Given the description of an element on the screen output the (x, y) to click on. 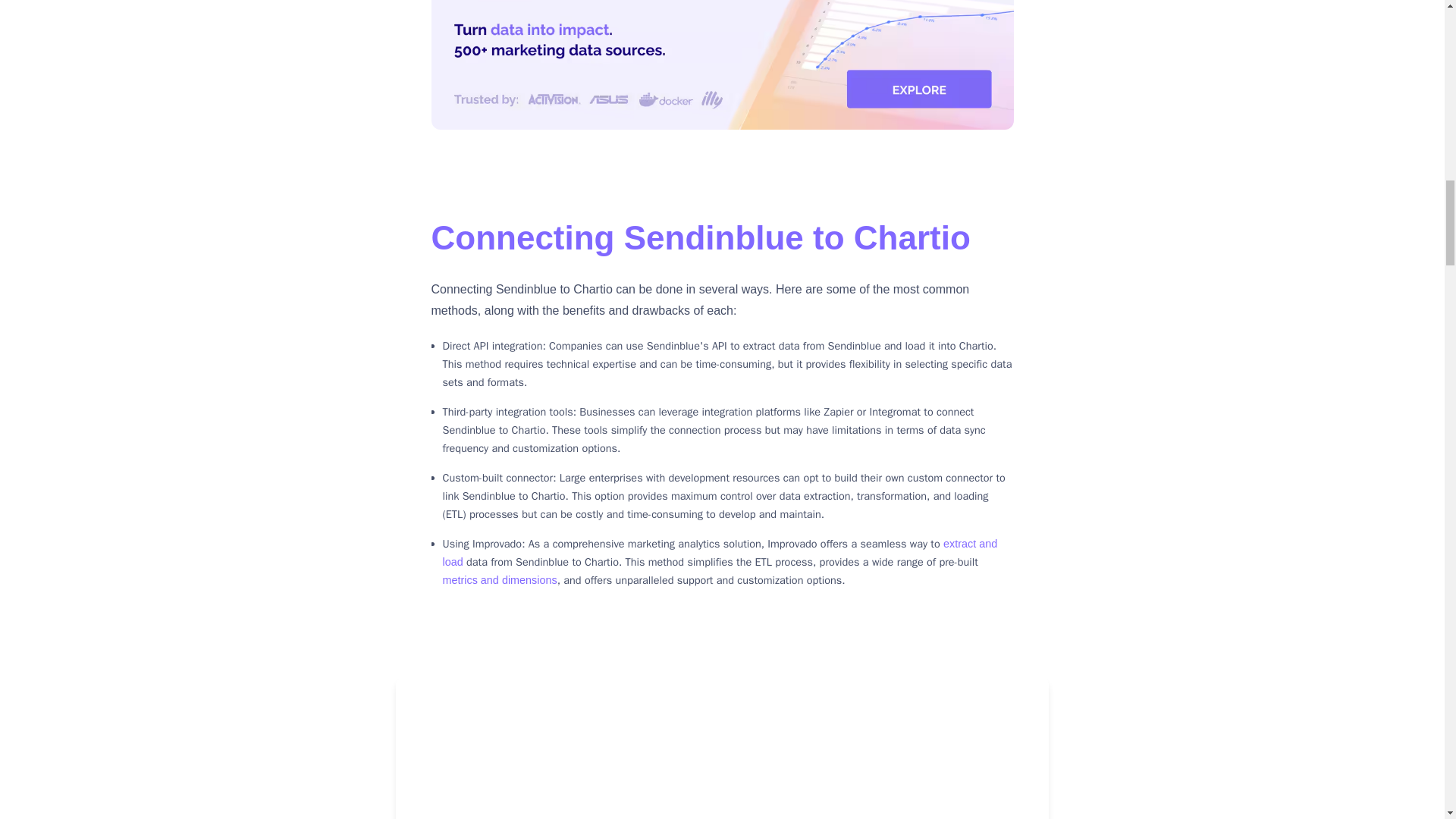
Form 0 (881, 762)
